Given the description of an element on the screen output the (x, y) to click on. 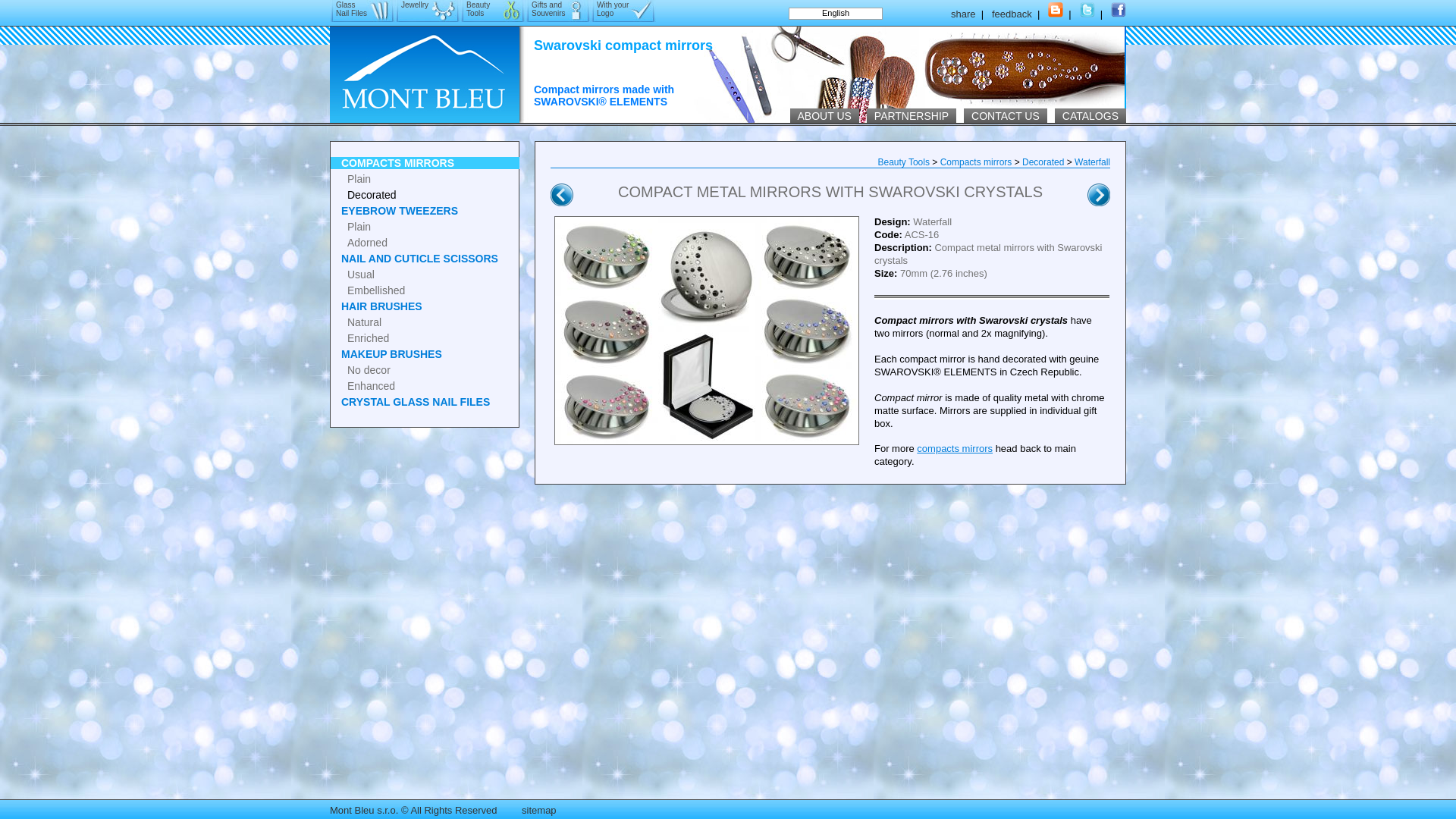
Natural (424, 322)
Compacts mirrors (975, 162)
Compact metal mirrors with Swarovski crystals (706, 330)
Decorated (1043, 162)
HAIR BRUSHES (424, 306)
CONTACT US (1004, 115)
PARTNERSHIP (911, 115)
Decorated (424, 194)
With your Logo (623, 11)
Enriched (424, 337)
